Given the description of an element on the screen output the (x, y) to click on. 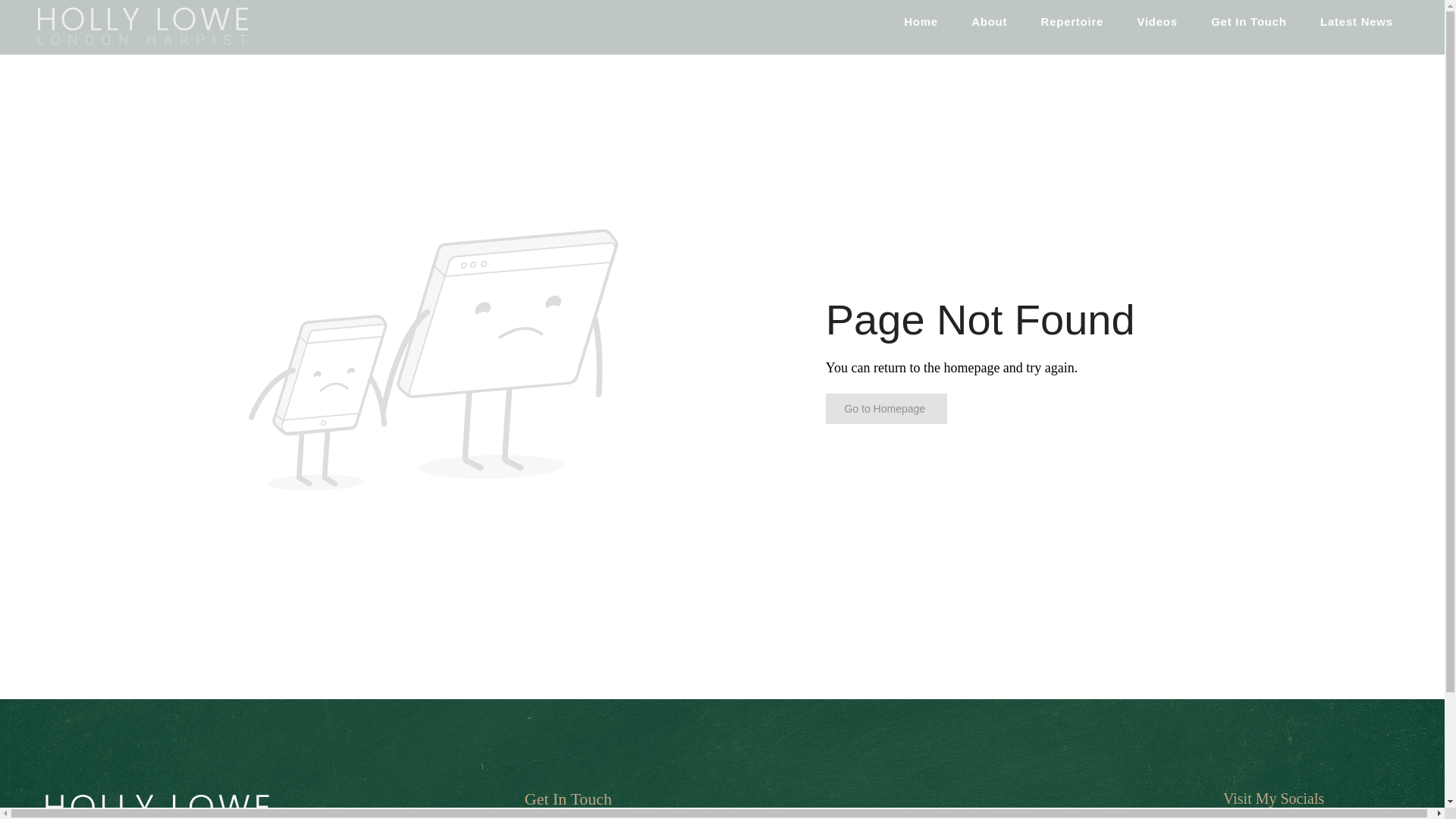
Videos (1156, 21)
Get In Touch (1248, 21)
About (989, 21)
Latest News (1356, 21)
Repertoire (1071, 21)
Get In Touch (567, 798)
Go to Homepage (886, 408)
Home (920, 21)
